Given the description of an element on the screen output the (x, y) to click on. 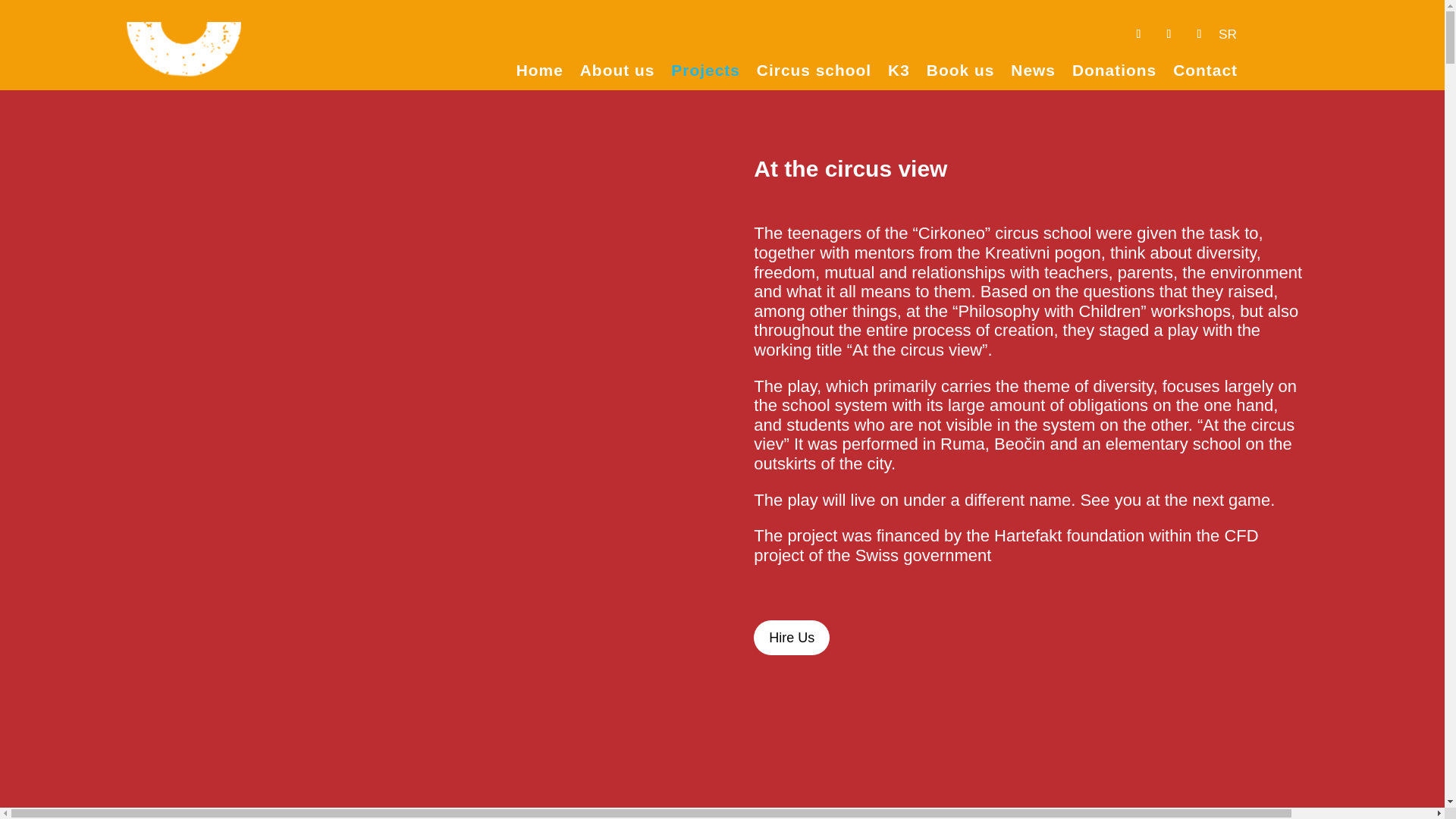
Donations (1113, 73)
Hire Us (791, 636)
Follow on Youtube (1168, 33)
Circus school (813, 73)
Logo glavni beli tablet (183, 60)
Follow on Instagram (1198, 33)
Projects (705, 73)
About us (617, 73)
K3 (899, 73)
Contact (1205, 73)
